Given the description of an element on the screen output the (x, y) to click on. 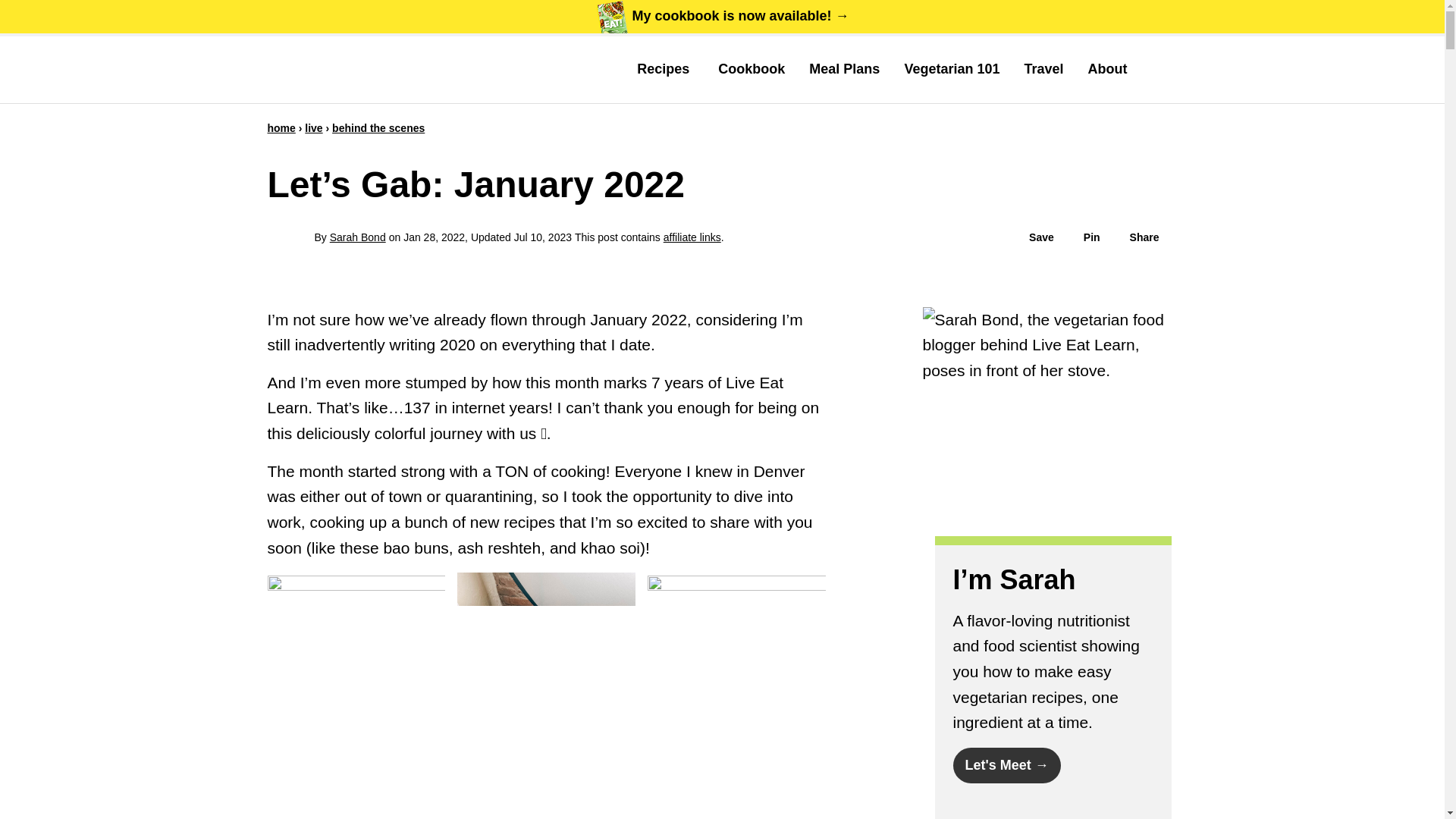
Share on Facebook (1136, 237)
Share on Pinterest (1084, 237)
Recipes (665, 69)
